Given the description of an element on the screen output the (x, y) to click on. 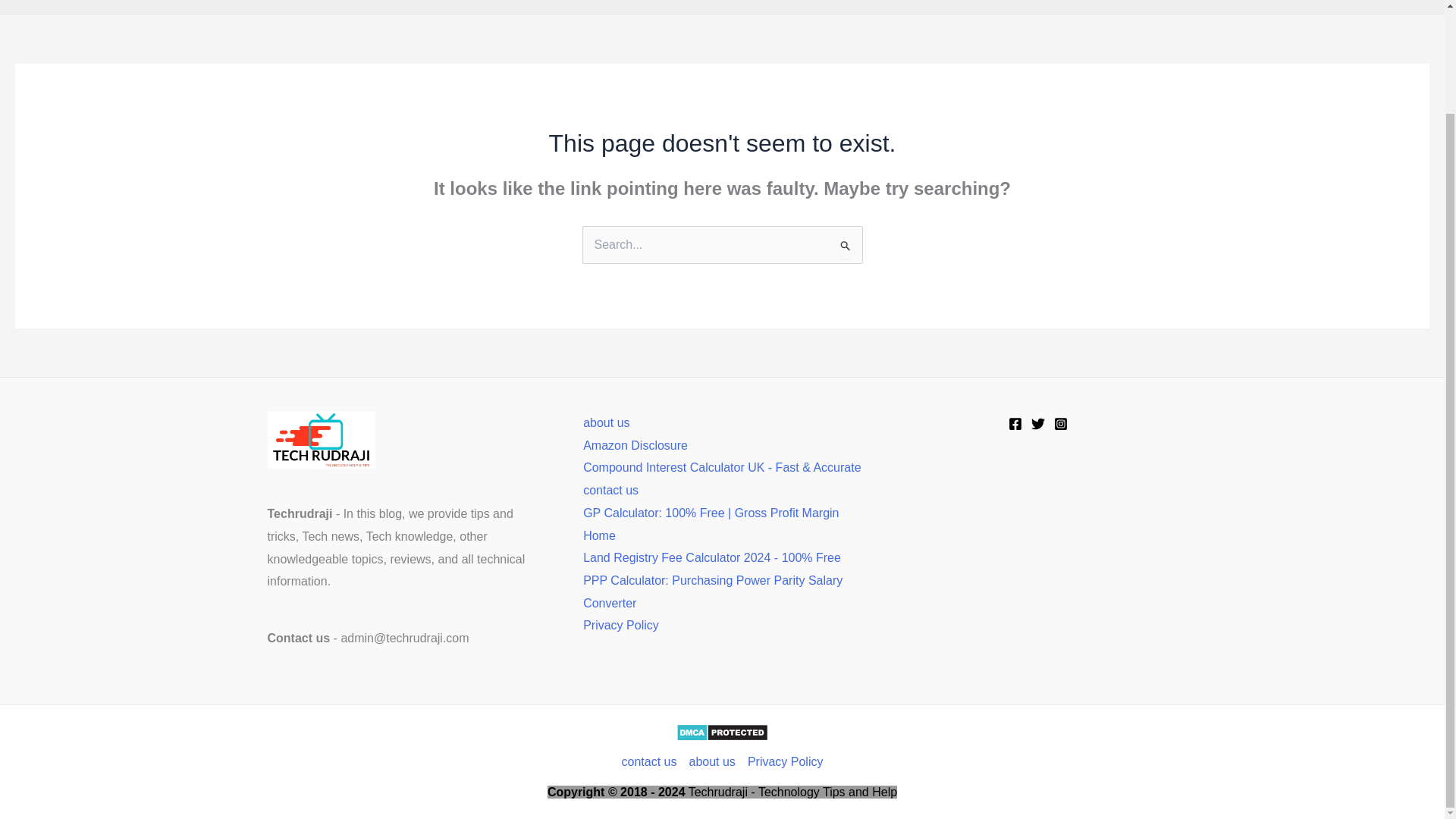
Make money (645, 7)
about us (605, 422)
Review (976, 7)
Home (462, 7)
Privacy Policy (621, 625)
DMCA.com Protection Status (722, 730)
PPP Calculator: Purchasing Power Parity Salary Converter (713, 591)
Home (599, 535)
Cryptocurrency (892, 7)
contact us (611, 490)
AI (821, 7)
Amazon Disclosure (635, 445)
Privacy Policy (782, 762)
Knowledgeable (545, 7)
contact us (651, 762)
